Given the description of an element on the screen output the (x, y) to click on. 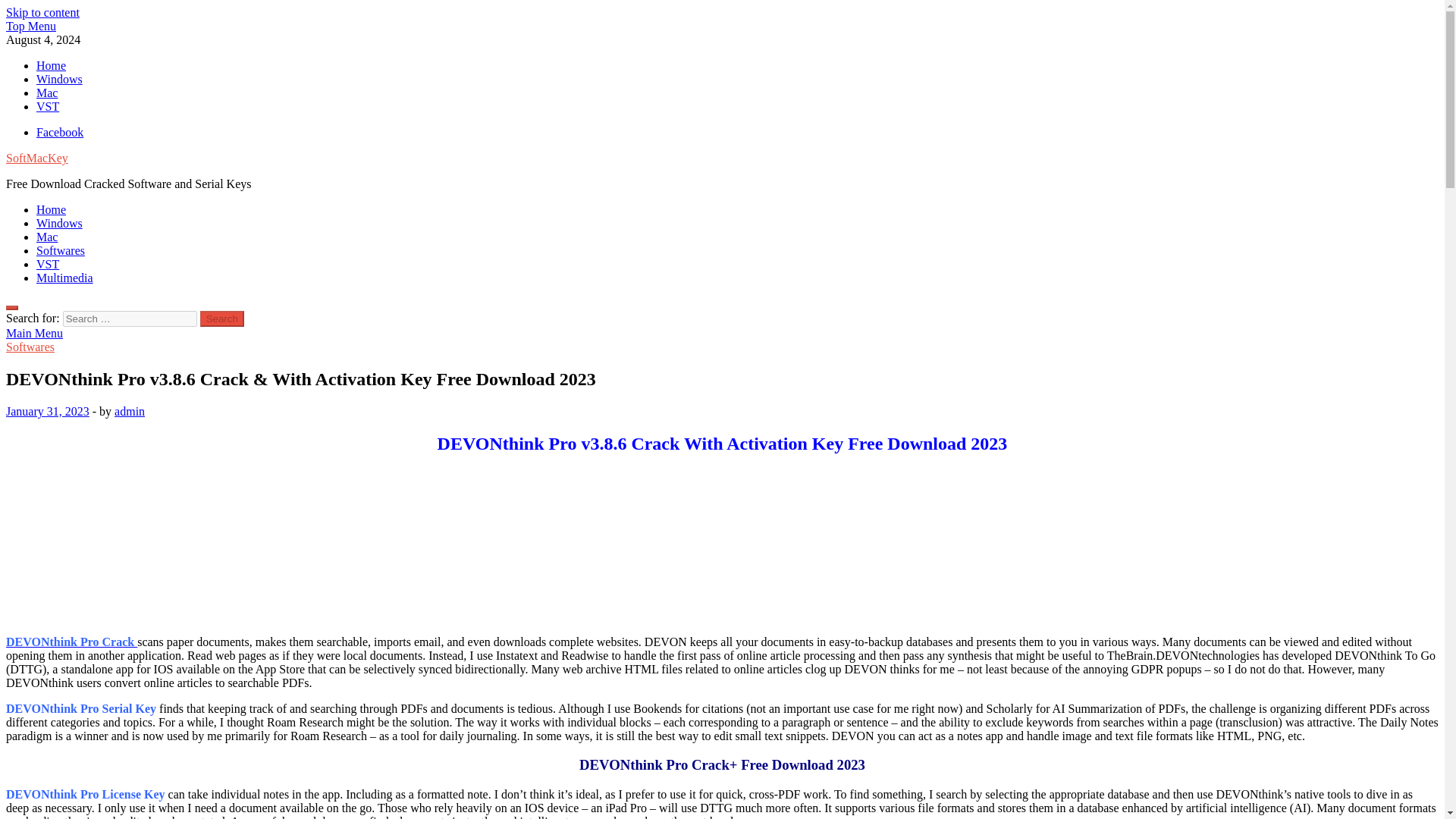
Top Menu (30, 25)
Windows (59, 78)
Windows (59, 223)
Softwares (30, 346)
Search (222, 318)
Multimedia (64, 277)
Search (222, 318)
Main Menu (33, 332)
Home (50, 65)
VST (47, 106)
Mac (47, 92)
Softwares (60, 250)
VST (47, 264)
Skip to content (42, 11)
Mac (47, 236)
